Given the description of an element on the screen output the (x, y) to click on. 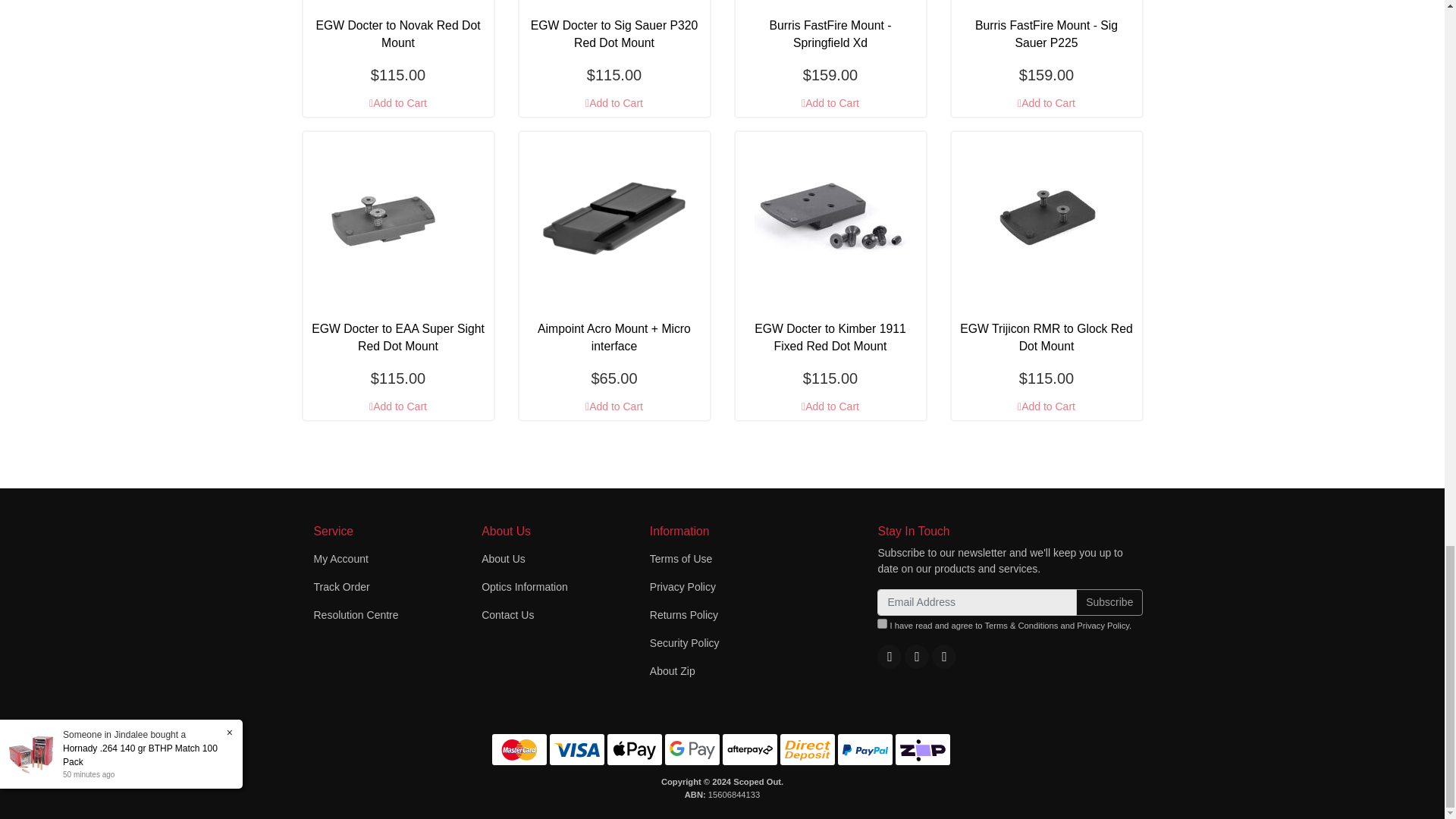
Add EGW Docter to Sig Sauer P320  Red Dot Mount to Cart (613, 103)
y (881, 623)
Add EGW Docter to Novak  Red Dot Mount to Cart (397, 103)
Add Burris FastFire Mount - Springfield Xd to Cart (830, 103)
Add EGW Docter to EAA Super Sight  Red Dot Mount to Cart (397, 406)
Subscribe (1108, 601)
Scoped Out on Facebook (889, 655)
Scoped Out on Instagram (943, 655)
Add EGW Docter to Kimber 1911 Fixed  Red Dot Mount to Cart (830, 406)
Add EGW Trijicon RMR to Glock  Red Dot Mount to Cart (1045, 406)
Add Burris FastFire Mount - Sig Sauer P225 to Cart (1045, 103)
Scoped Out on Youtube (916, 655)
